Given the description of an element on the screen output the (x, y) to click on. 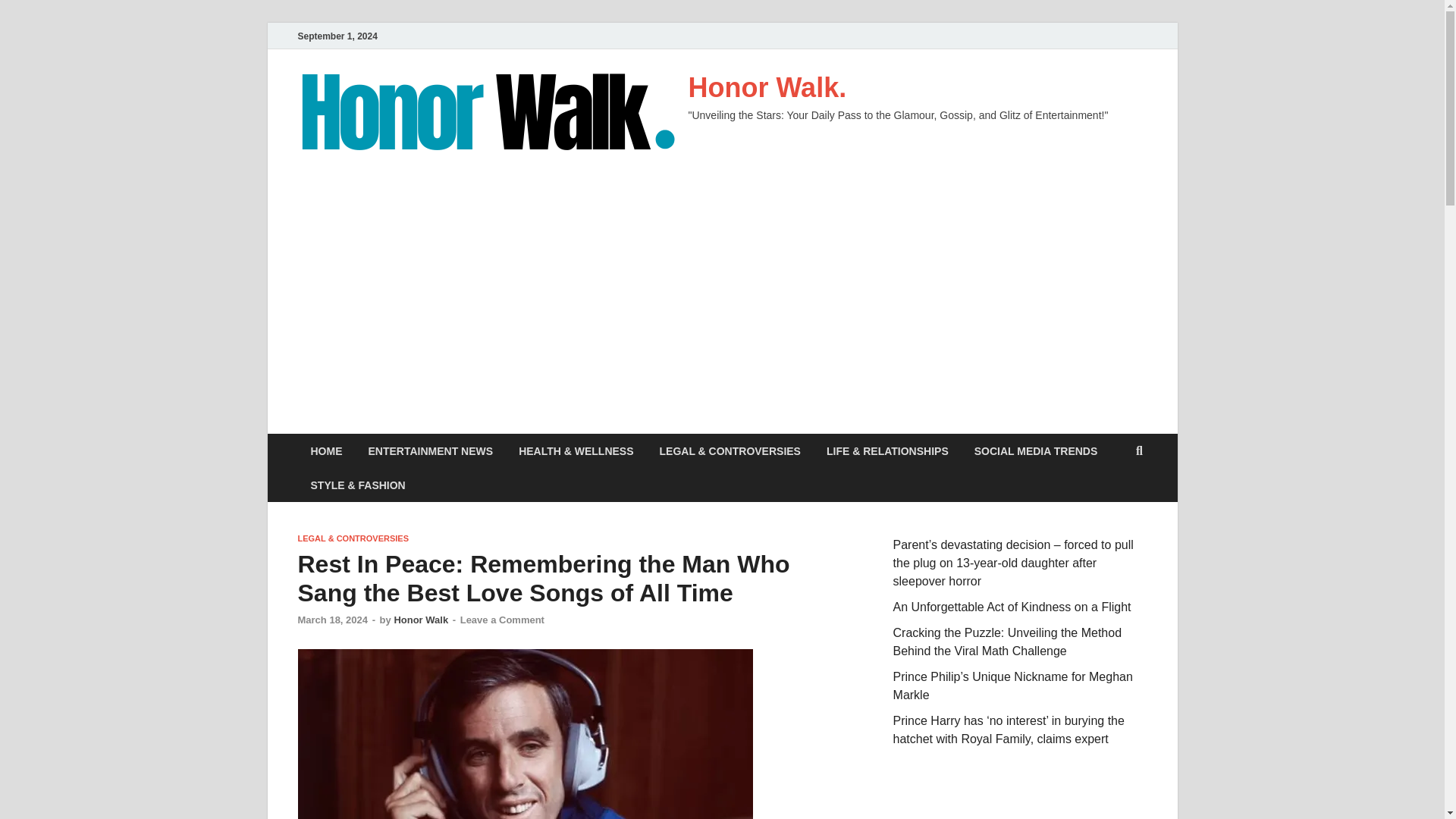
SOCIAL MEDIA TRENDS (1035, 450)
An Unforgettable Act of Kindness on a Flight (1012, 606)
ENTERTAINMENT NEWS (430, 450)
HOME (326, 450)
Honor Walk. (767, 87)
Leave a Comment (502, 619)
Honor Walk (420, 619)
March 18, 2024 (332, 619)
